Given the description of an element on the screen output the (x, y) to click on. 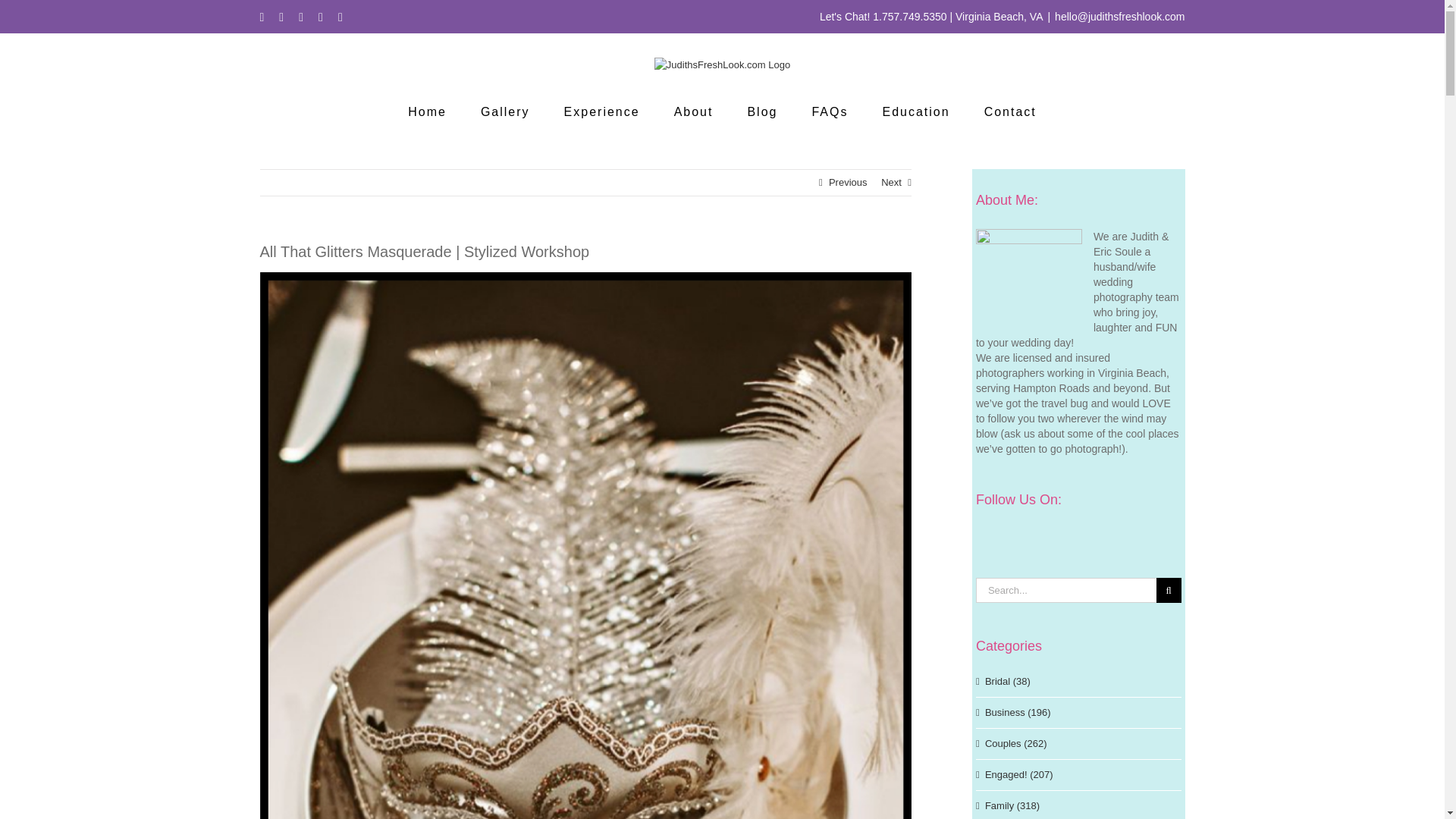
Blog (761, 111)
Experience (602, 111)
About (693, 111)
Home (426, 111)
Let's Chat! 1.757.749.5350 (883, 16)
FAQs (828, 111)
Gallery (504, 111)
Education (915, 111)
Previous (847, 182)
